Given the description of an element on the screen output the (x, y) to click on. 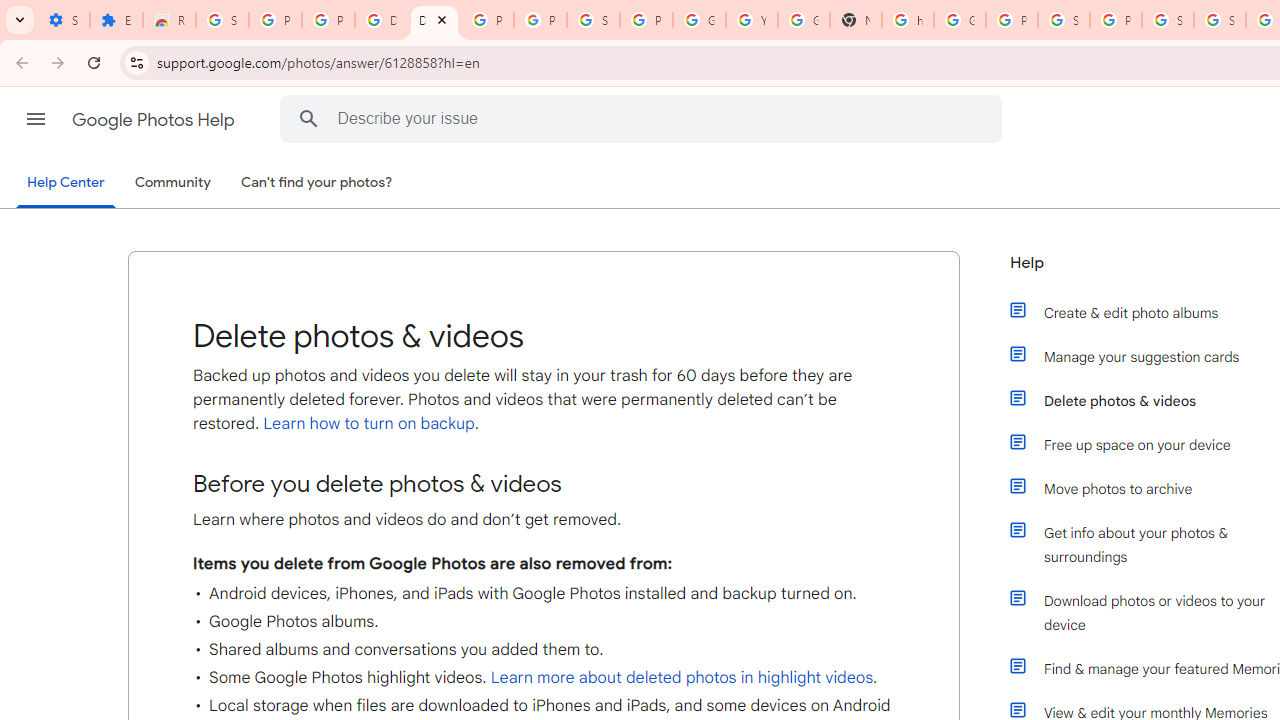
Sign in - Google Accounts (593, 20)
Delete photos & videos - Computer - Google Photos Help (434, 20)
Help Center (65, 183)
Main menu (35, 119)
https://scholar.google.com/ (907, 20)
